Given the description of an element on the screen output the (x, y) to click on. 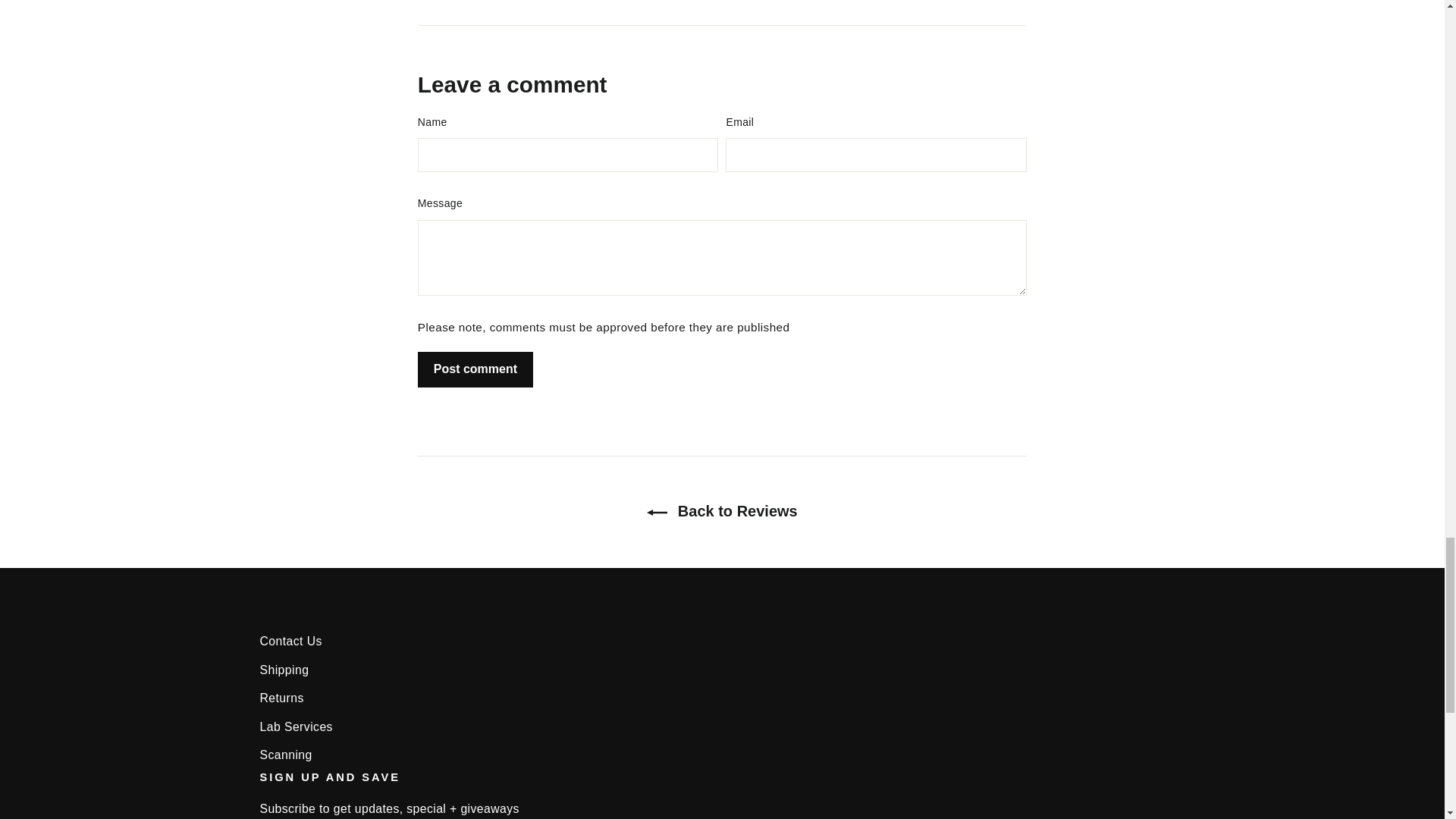
Post comment (474, 369)
